Given the description of an element on the screen output the (x, y) to click on. 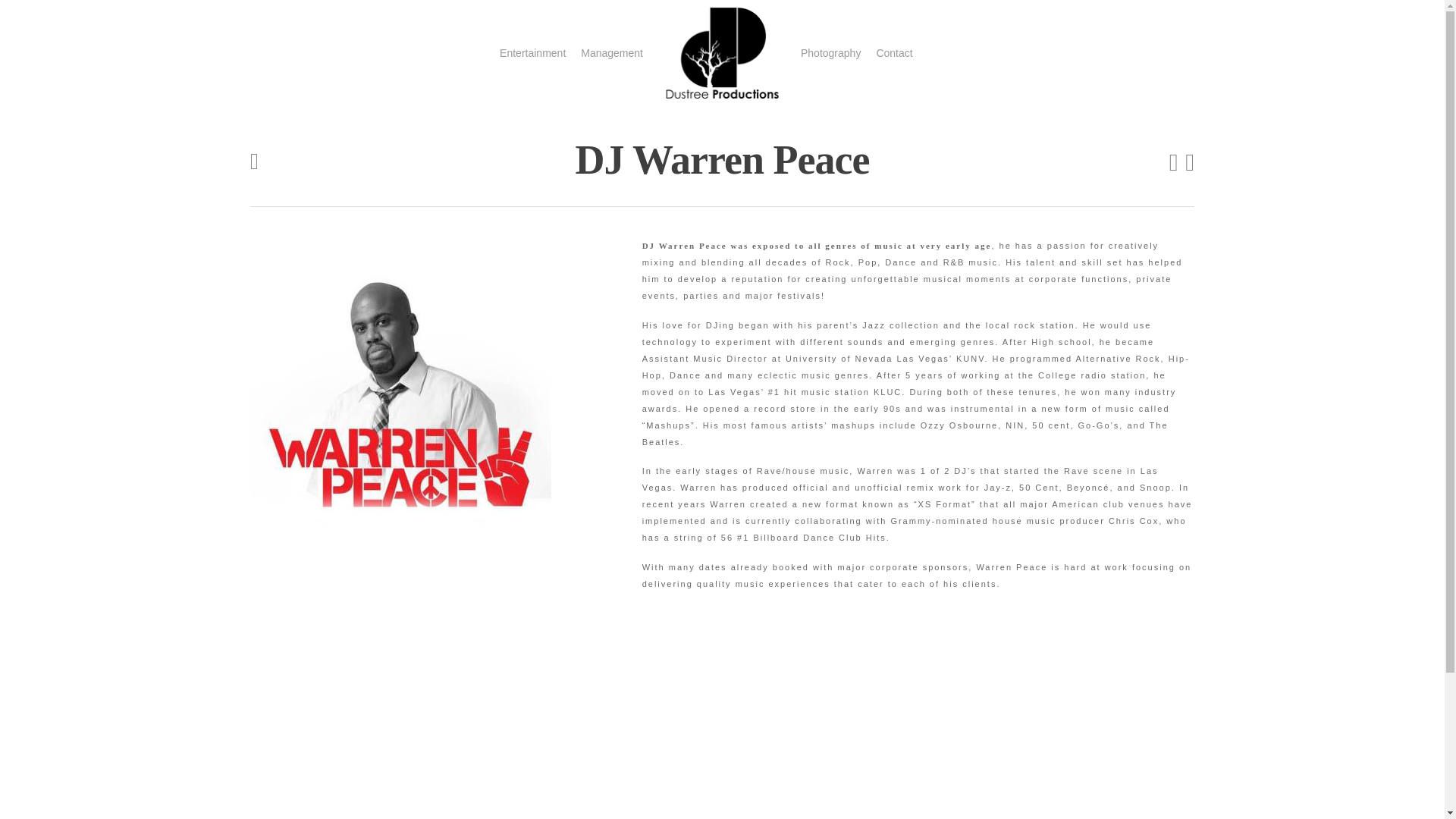
Contact (894, 52)
Entertainment (532, 52)
Management (611, 52)
Back to all projects (254, 162)
Photography (830, 52)
